Given the description of an element on the screen output the (x, y) to click on. 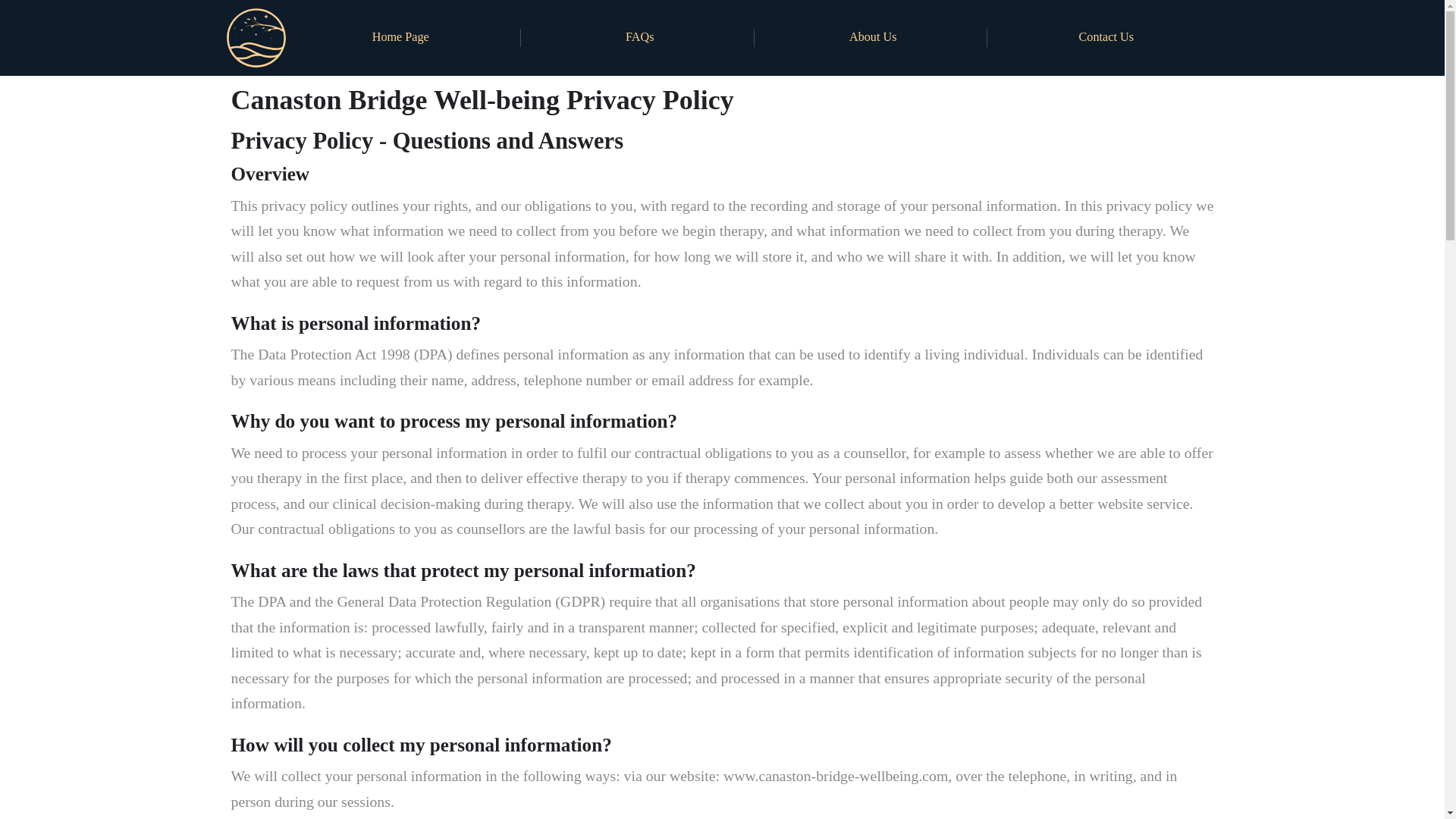
FAQs (639, 37)
Canaston Bridge Wellbeing Logo (255, 36)
About Us (873, 37)
Home Page (400, 37)
Contact Us (1106, 37)
